Given the description of an element on the screen output the (x, y) to click on. 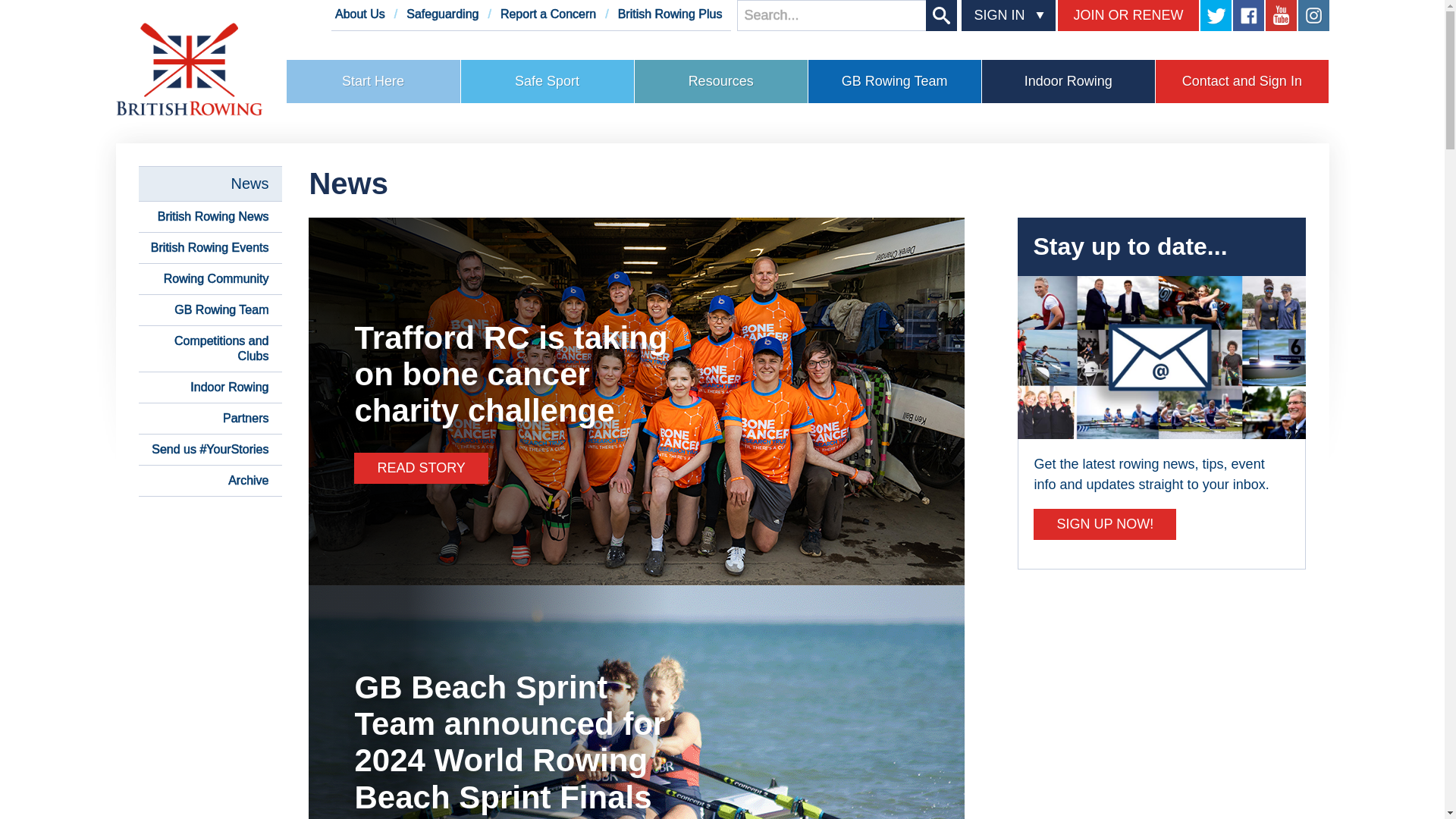
Indoor Rowing (1067, 81)
British Rowing Plus (669, 13)
Start Here (373, 81)
About Us (359, 13)
SIGN IN (992, 15)
twitter (1214, 15)
Resources (721, 81)
facebook (1248, 15)
Report a Concern (547, 13)
Safe Sport (547, 81)
